Given the description of an element on the screen output the (x, y) to click on. 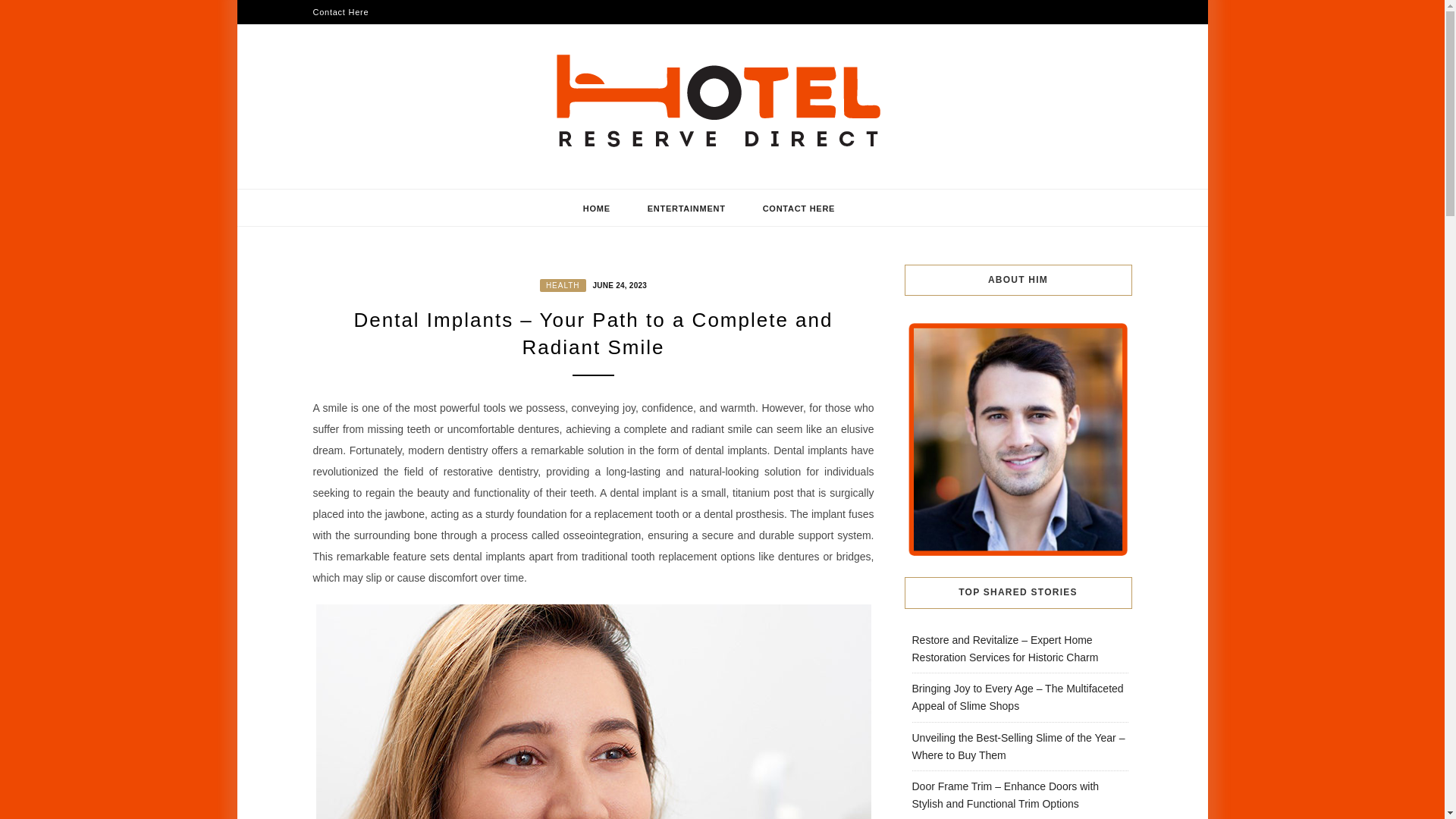
HOTEL RESERVE DIRECT (513, 182)
ENTERTAINMENT (686, 208)
CONTACT HERE (799, 208)
HOME (596, 208)
Contact Here (340, 12)
HEALTH (563, 285)
JUNE 24, 2023 (617, 284)
